Given the description of an element on the screen output the (x, y) to click on. 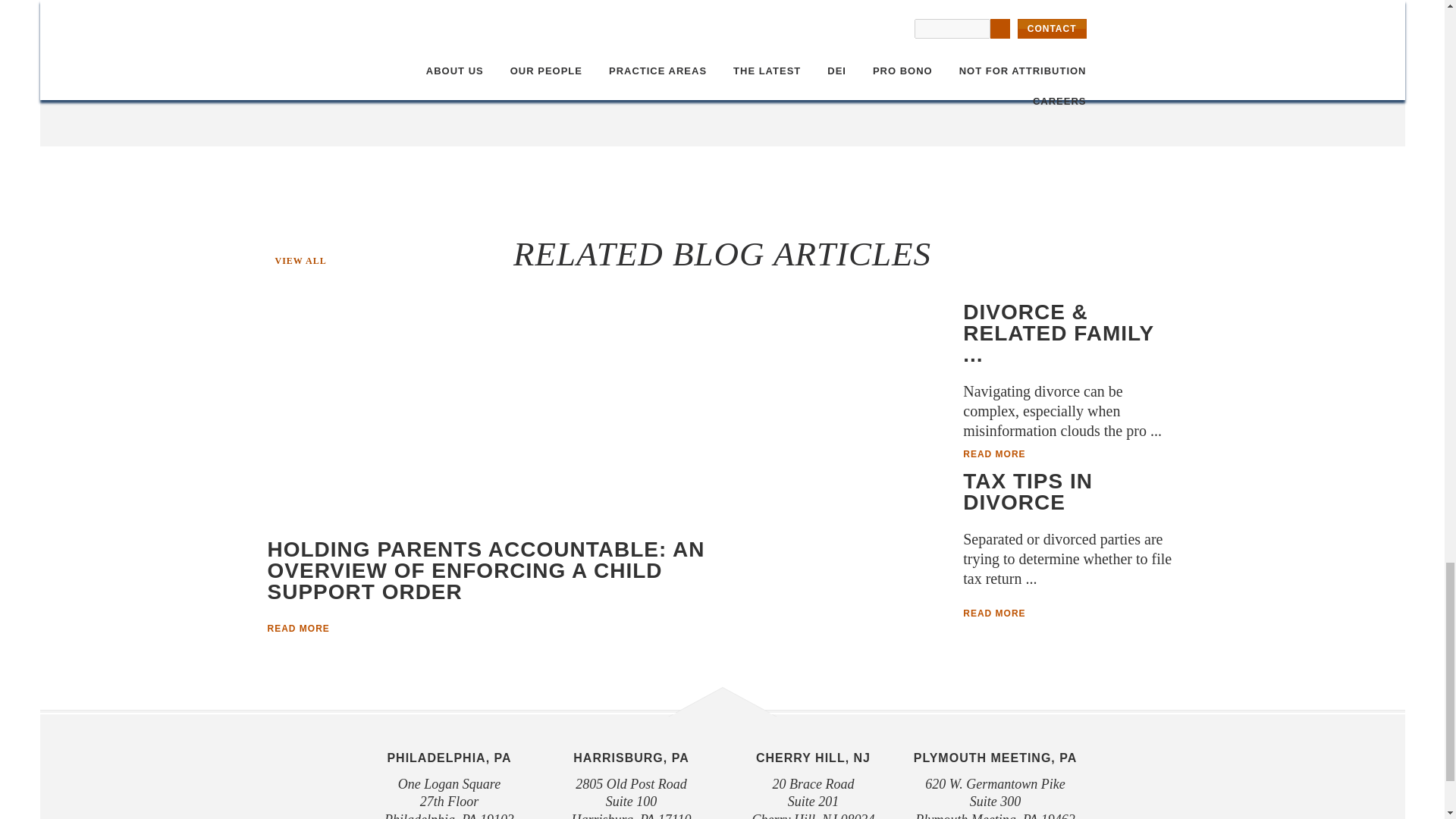
READ MORE (996, 453)
www.SSA.gov. (691, 29)
VIEW ALL (296, 260)
READ MORE (996, 613)
READ MORE (300, 628)
